Given the description of an element on the screen output the (x, y) to click on. 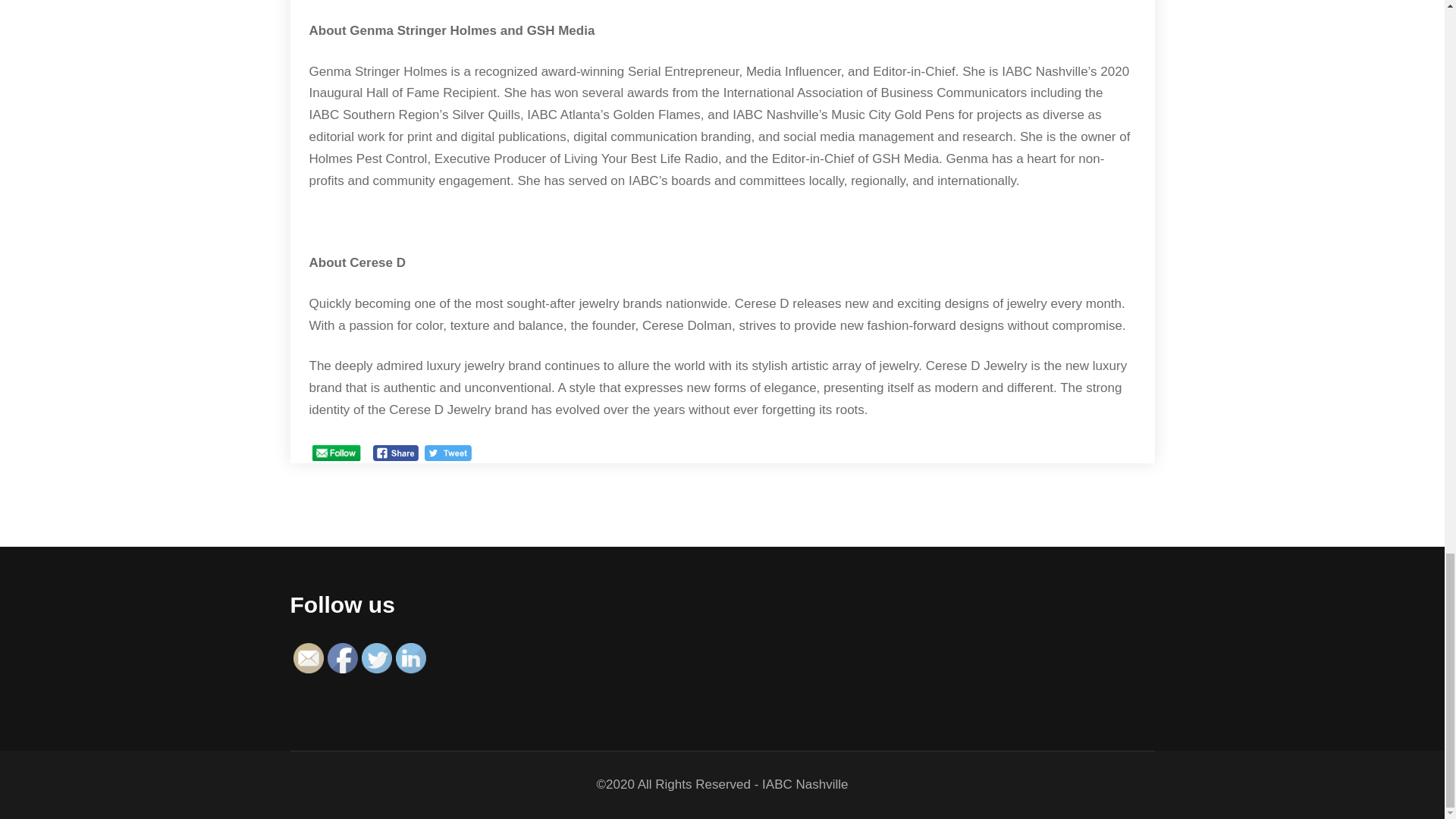
Tweet (448, 453)
Facebook (342, 657)
Follow by Email (307, 657)
LinkedIn (411, 657)
Twitter (376, 657)
Facebook Share (395, 453)
